Given the description of an element on the screen output the (x, y) to click on. 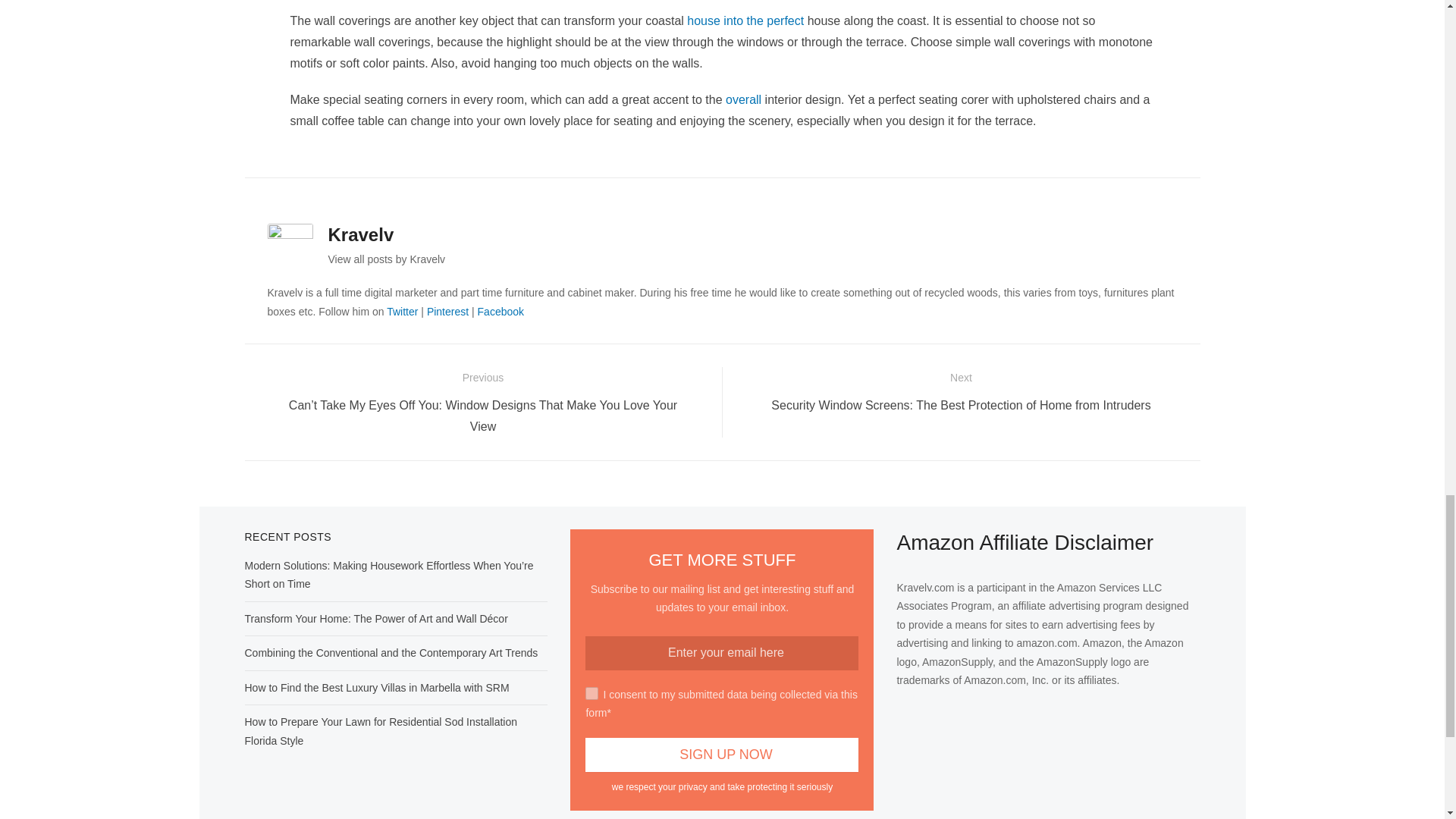
View all posts by Kravelv (386, 259)
on (591, 693)
Sign Up Now (722, 754)
house into the perfect (745, 20)
overall (743, 99)
